Given the description of an element on the screen output the (x, y) to click on. 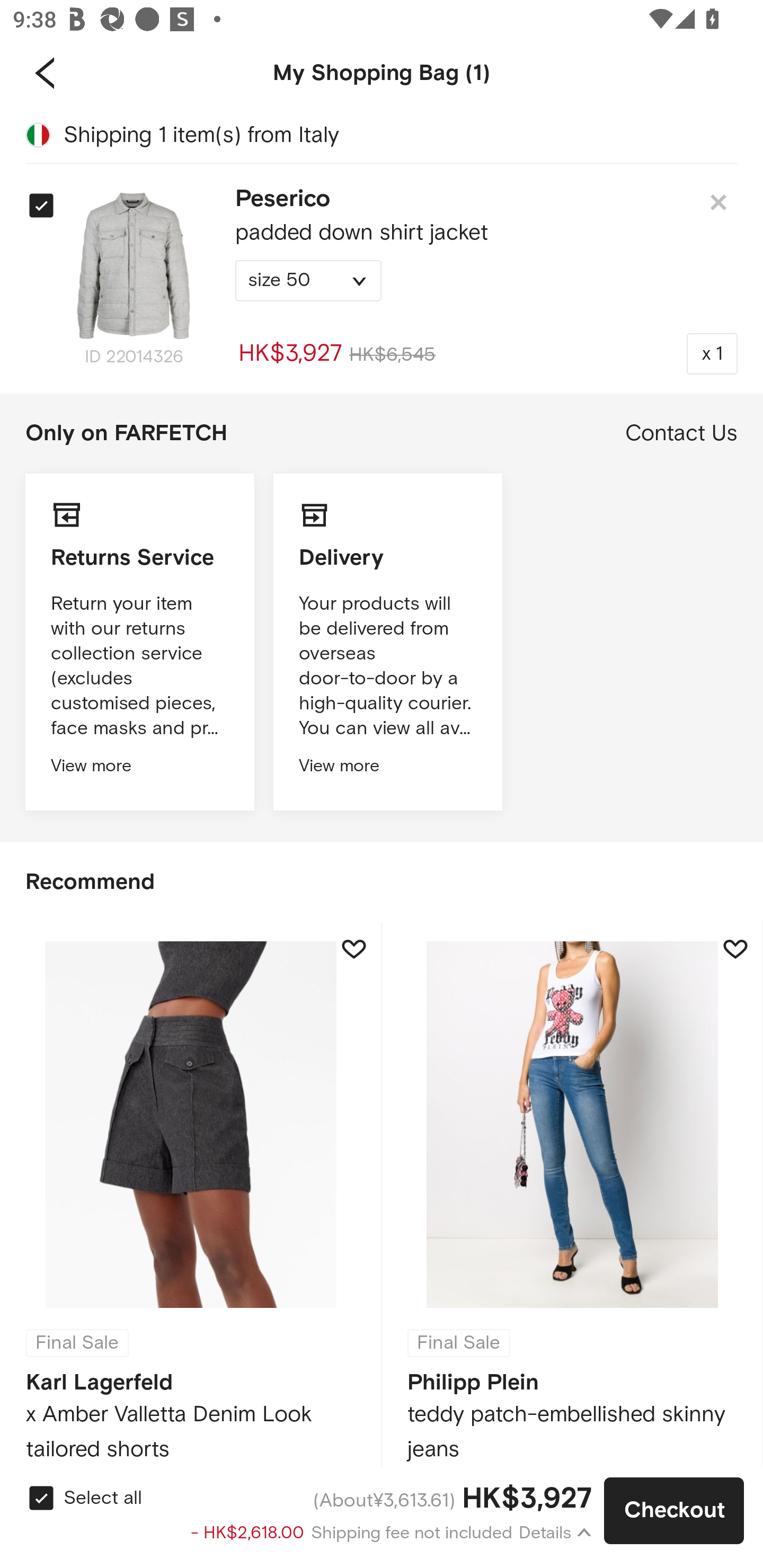
size 50 (308, 280)
x 1 (711, 353)
Contact Us (680, 433)
Checkout (673, 1510)
